Given the description of an element on the screen output the (x, y) to click on. 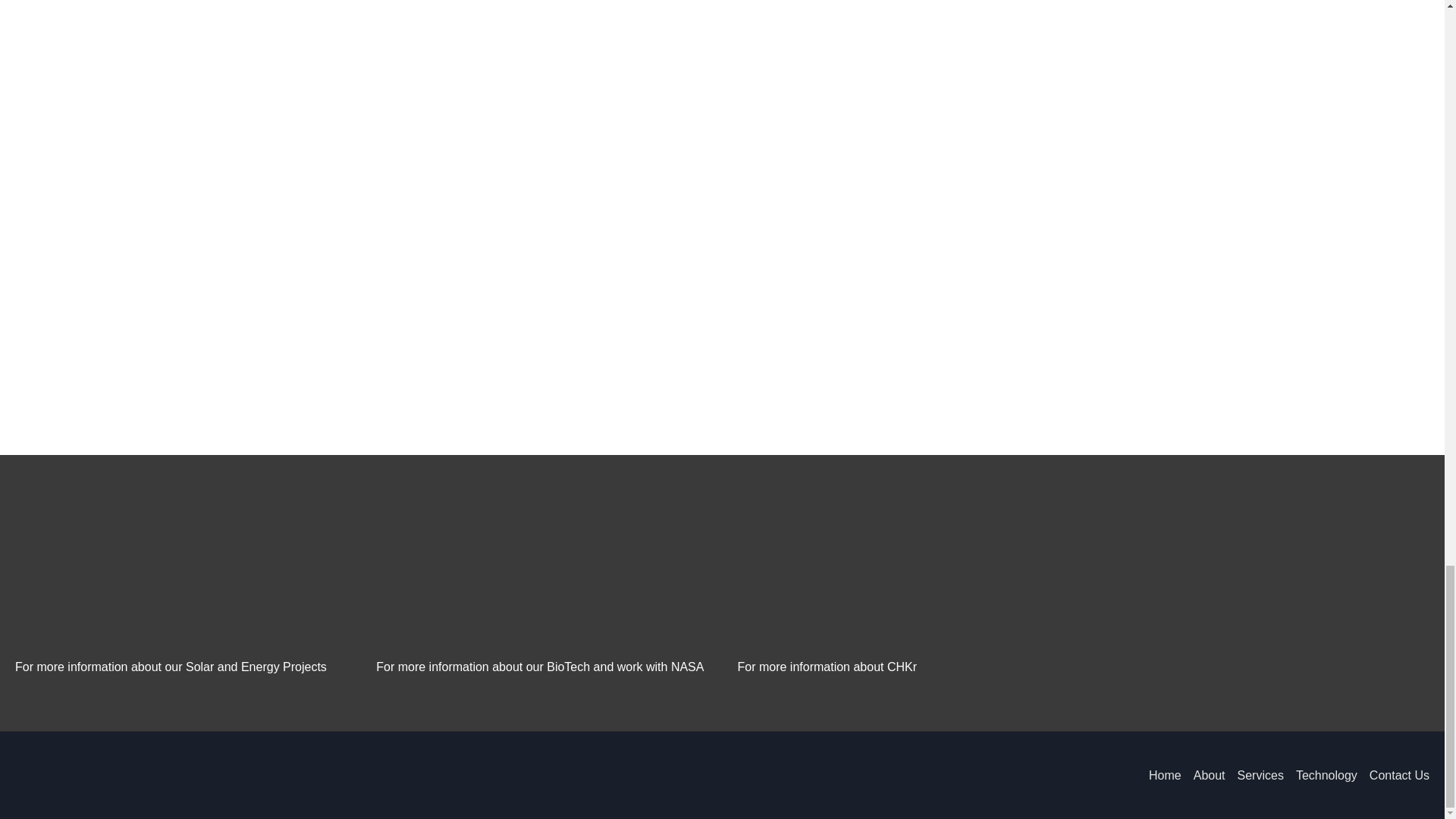
Contact Us (1392, 775)
Home (1158, 775)
Technology (1320, 775)
Services (1254, 775)
About (1202, 775)
